Given the description of an element on the screen output the (x, y) to click on. 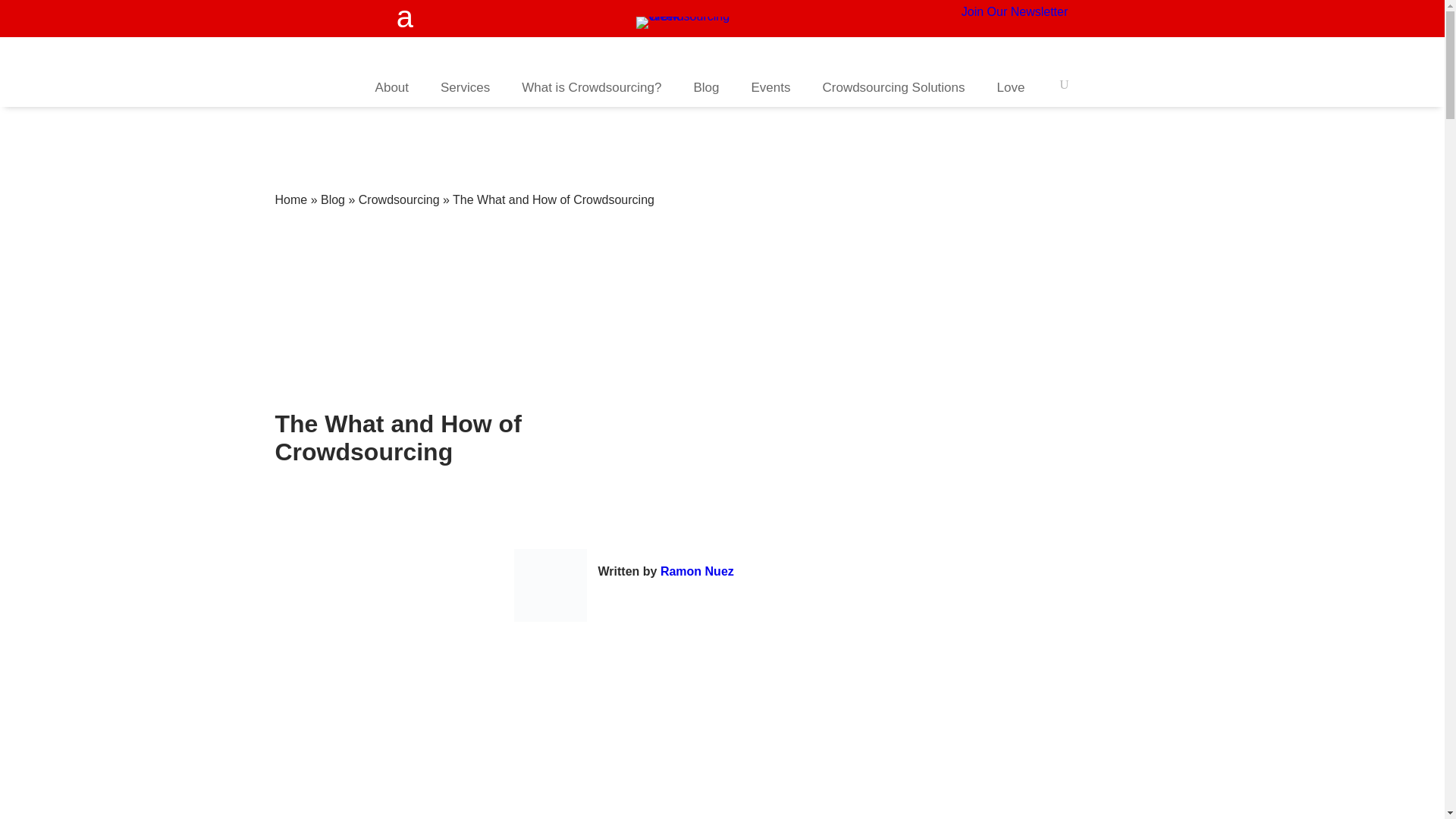
Join Our Newsletter (1014, 11)
What is Crowdsourcing? (591, 87)
Home (291, 199)
Crowdsourcing Solutions (892, 87)
Ramon Nuez (697, 571)
Blog (332, 199)
What is Crowdsourcing (591, 87)
Crowdsourcing (398, 199)
Crowdsourcing Week (696, 22)
Crowdsourcing Solutions (892, 87)
